Given the description of an element on the screen output the (x, y) to click on. 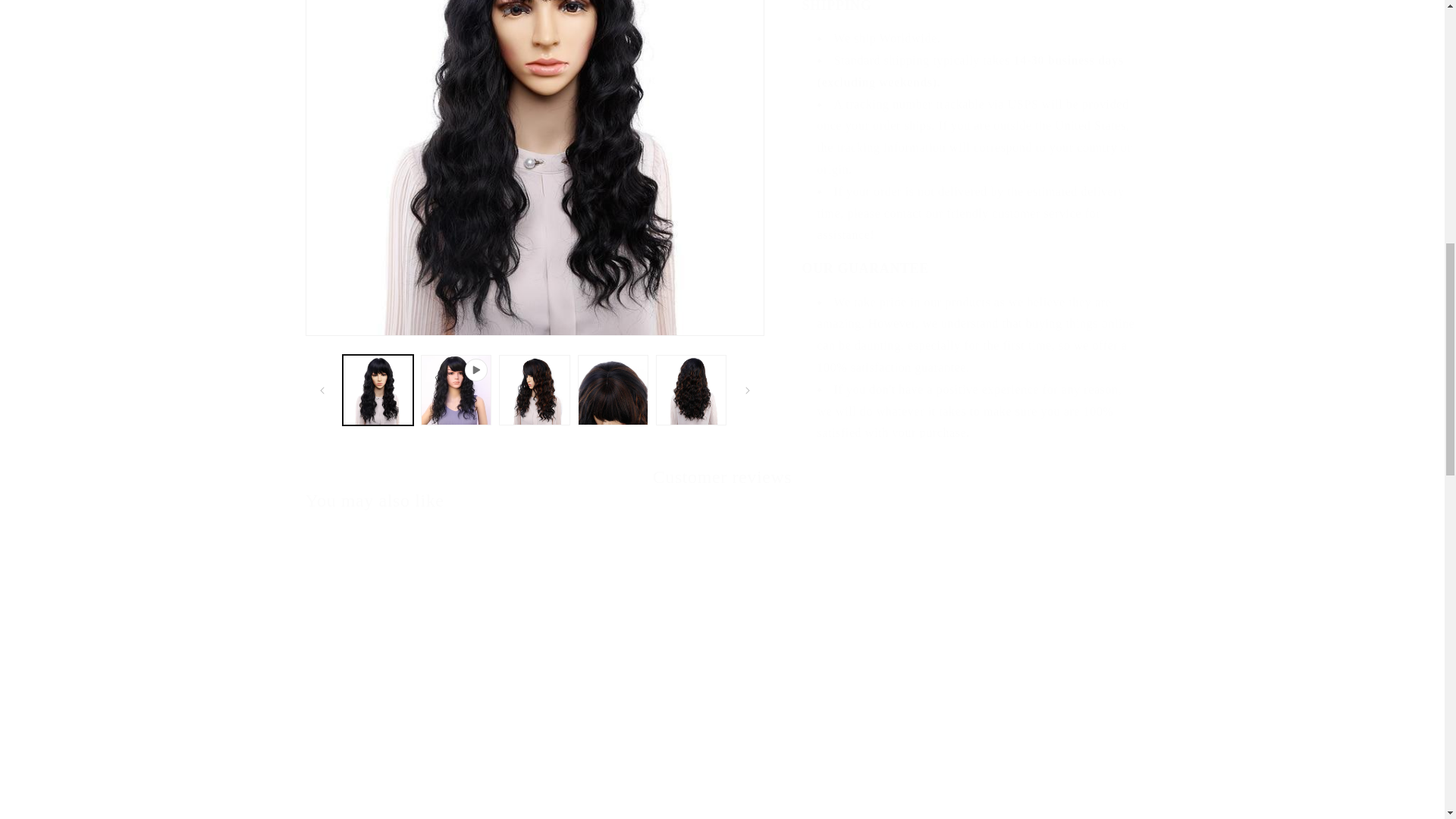
Sissy Dress Collection (826, 811)
Fuck Machines Collection (406, 811)
Sissy Wigs (1038, 811)
You may also like (374, 500)
Customer reviews (721, 477)
